Given the description of an element on the screen output the (x, y) to click on. 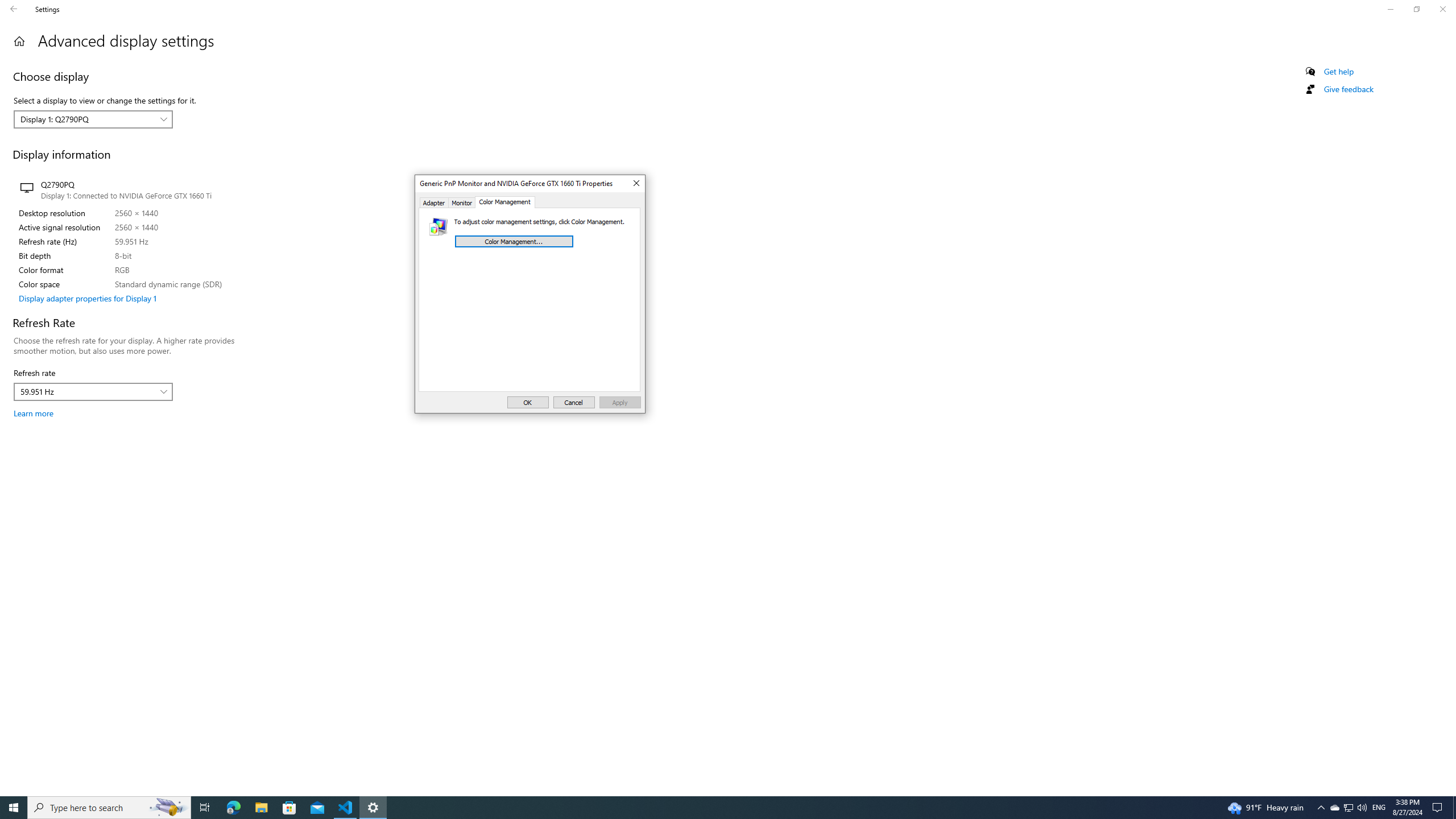
Adapter (433, 202)
Monitor (462, 202)
Tray Input Indicator - English (United States) (1378, 807)
Action Center, No new notifications (1439, 807)
OK (527, 401)
Type here to search (108, 807)
Running applications (1347, 807)
Microsoft Store (706, 807)
Color Management... (289, 807)
Show desktop (513, 241)
Settings - 1 running window (1454, 807)
Color Management (373, 807)
File Explorer (505, 202)
